Given the description of an element on the screen output the (x, y) to click on. 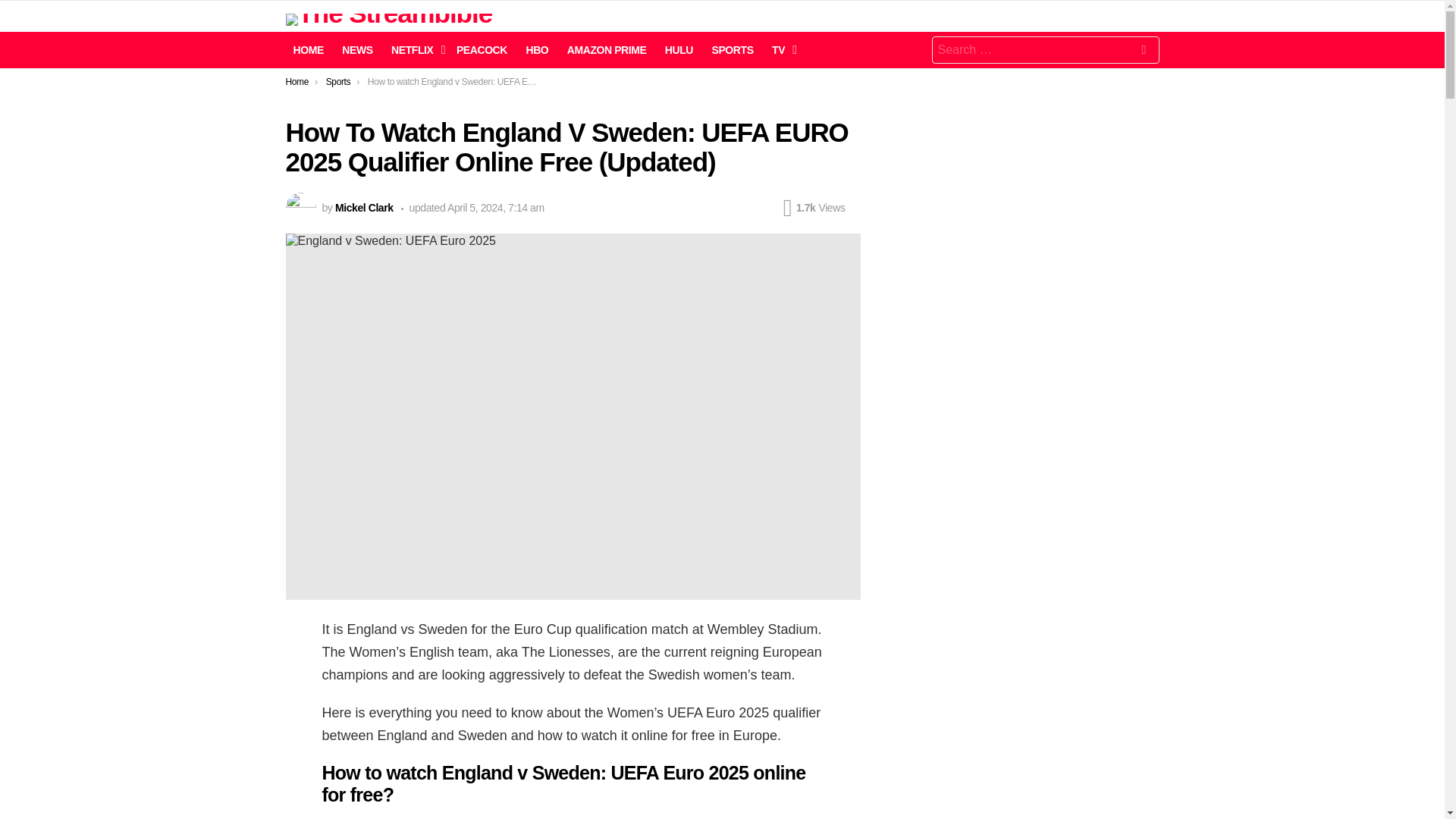
NEWS (357, 49)
SPORTS (731, 49)
HULU (679, 49)
Search for: (1044, 49)
PEACOCK (481, 49)
AMAZON PRIME (606, 49)
HOME (307, 49)
HBO (537, 49)
TV (780, 49)
SEARCH (1143, 51)
